Given the description of an element on the screen output the (x, y) to click on. 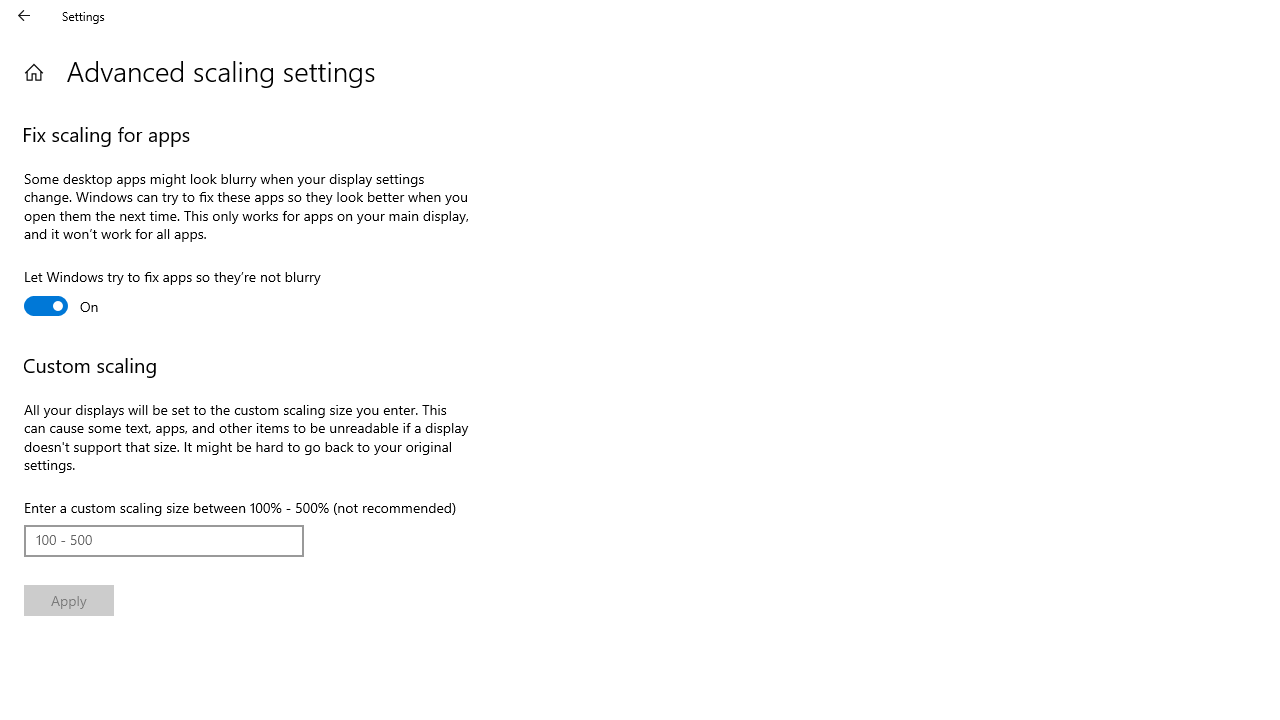
Home (33, 71)
Apply (68, 600)
Back (24, 15)
